Given the description of an element on the screen output the (x, y) to click on. 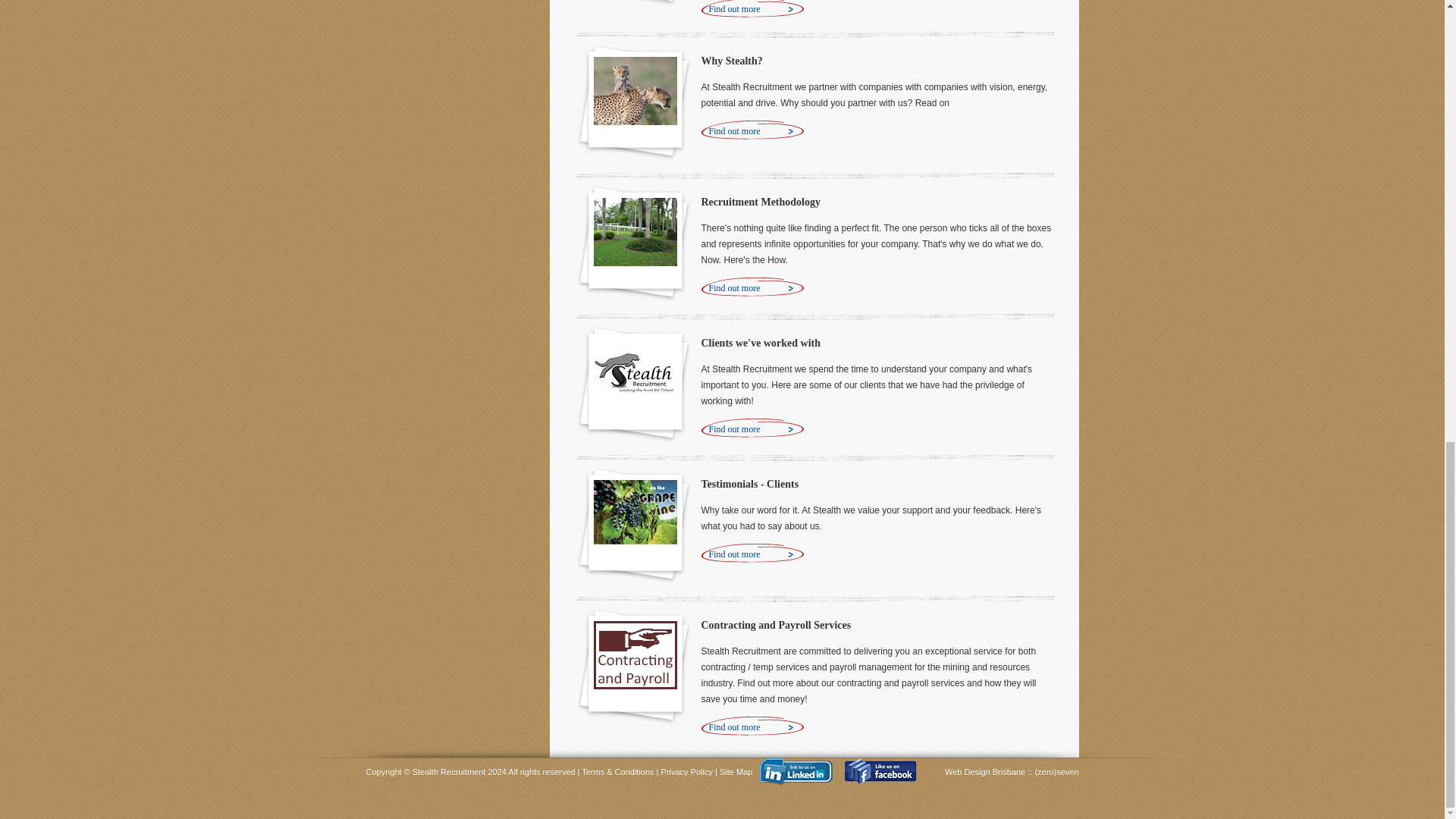
Find out more (751, 9)
Why Stealth? (730, 60)
Find out more (751, 130)
Web Design Brisbane (985, 771)
